Given the description of an element on the screen output the (x, y) to click on. 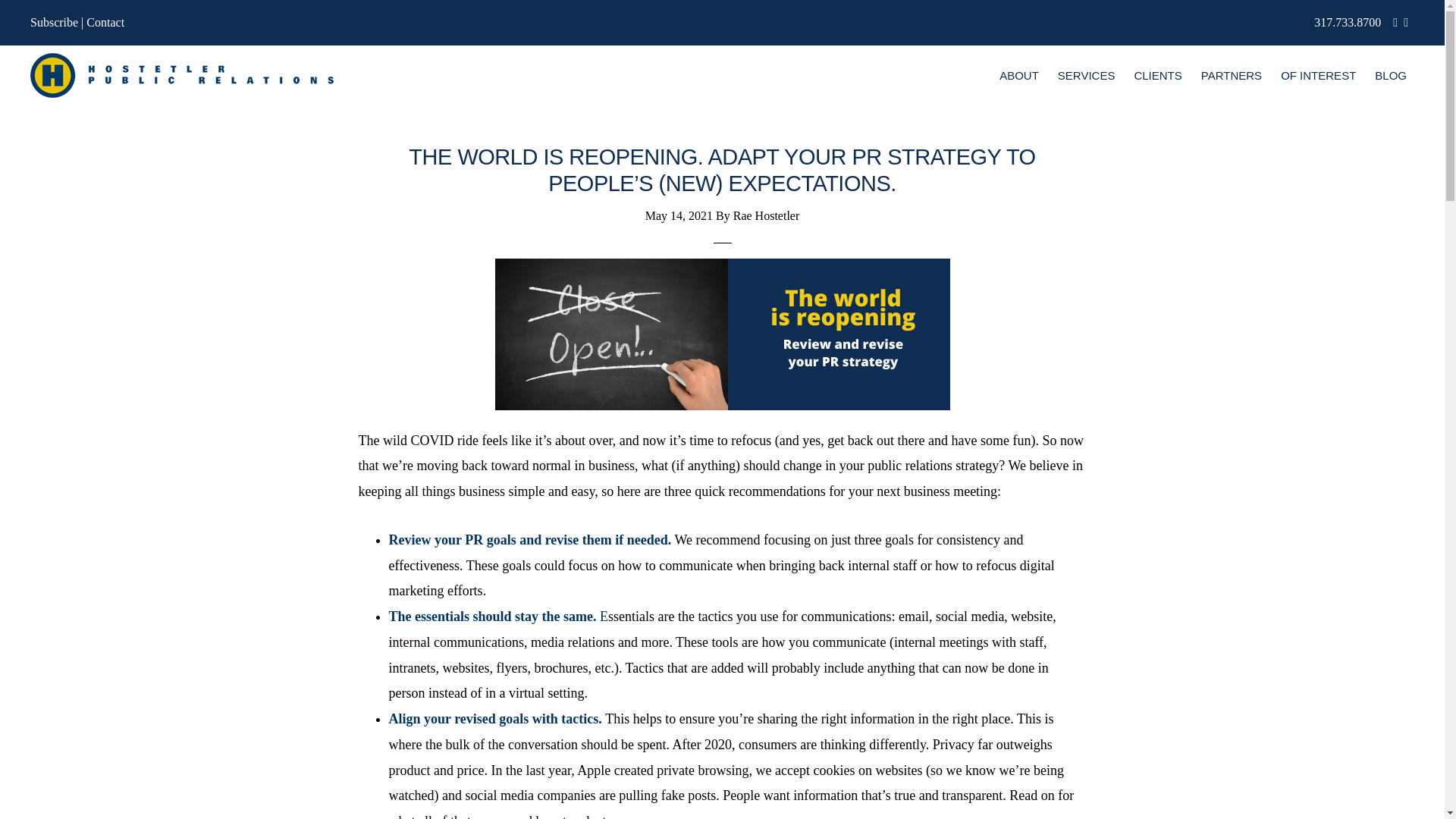
PARTNERS (1231, 75)
ABOUT (1018, 75)
Subscribe (54, 21)
OF INTEREST (1317, 75)
Rae Hostetler (766, 215)
CLIENTS (1157, 75)
BLOG (1390, 75)
SERVICES (1085, 75)
Contact (104, 21)
